Given the description of an element on the screen output the (x, y) to click on. 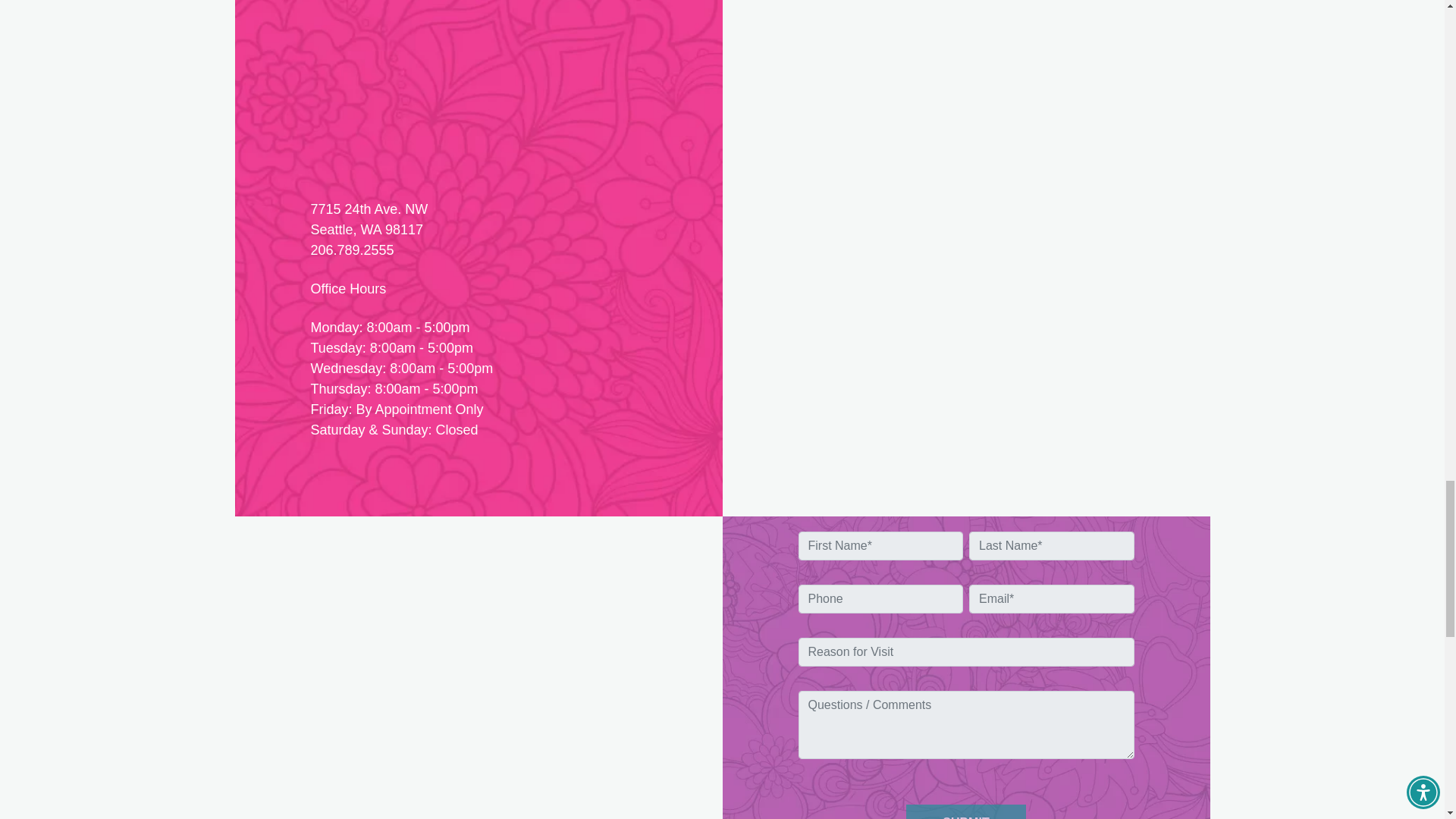
Submit (965, 811)
